Given the description of an element on the screen output the (x, y) to click on. 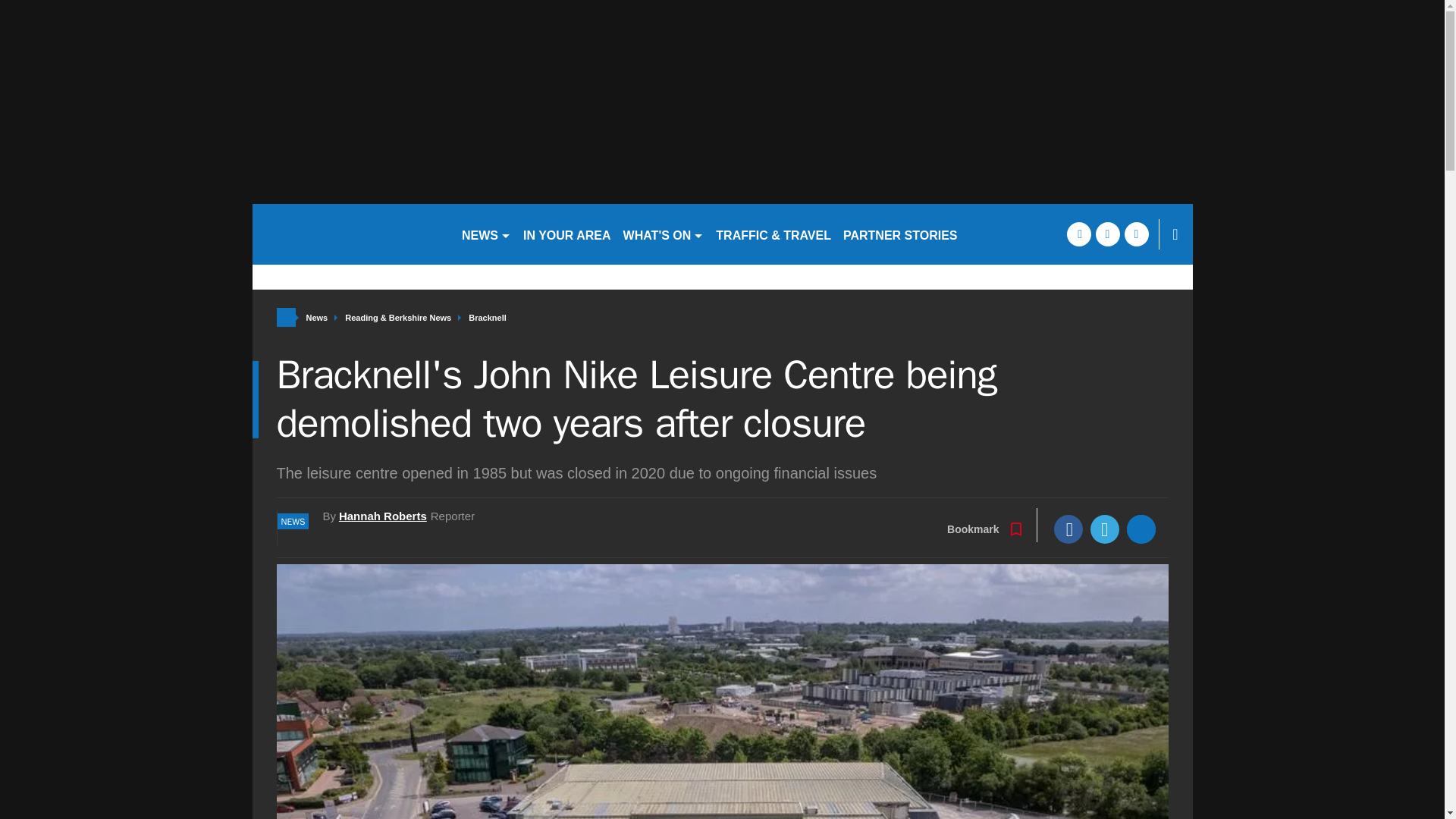
Twitter (1104, 529)
instagram (1136, 233)
twitter (1106, 233)
NEWS (485, 233)
getreading (349, 233)
facebook (1077, 233)
IN YOUR AREA (566, 233)
Facebook (1068, 529)
PARTNER STORIES (900, 233)
WHAT'S ON (663, 233)
